Given the description of an element on the screen output the (x, y) to click on. 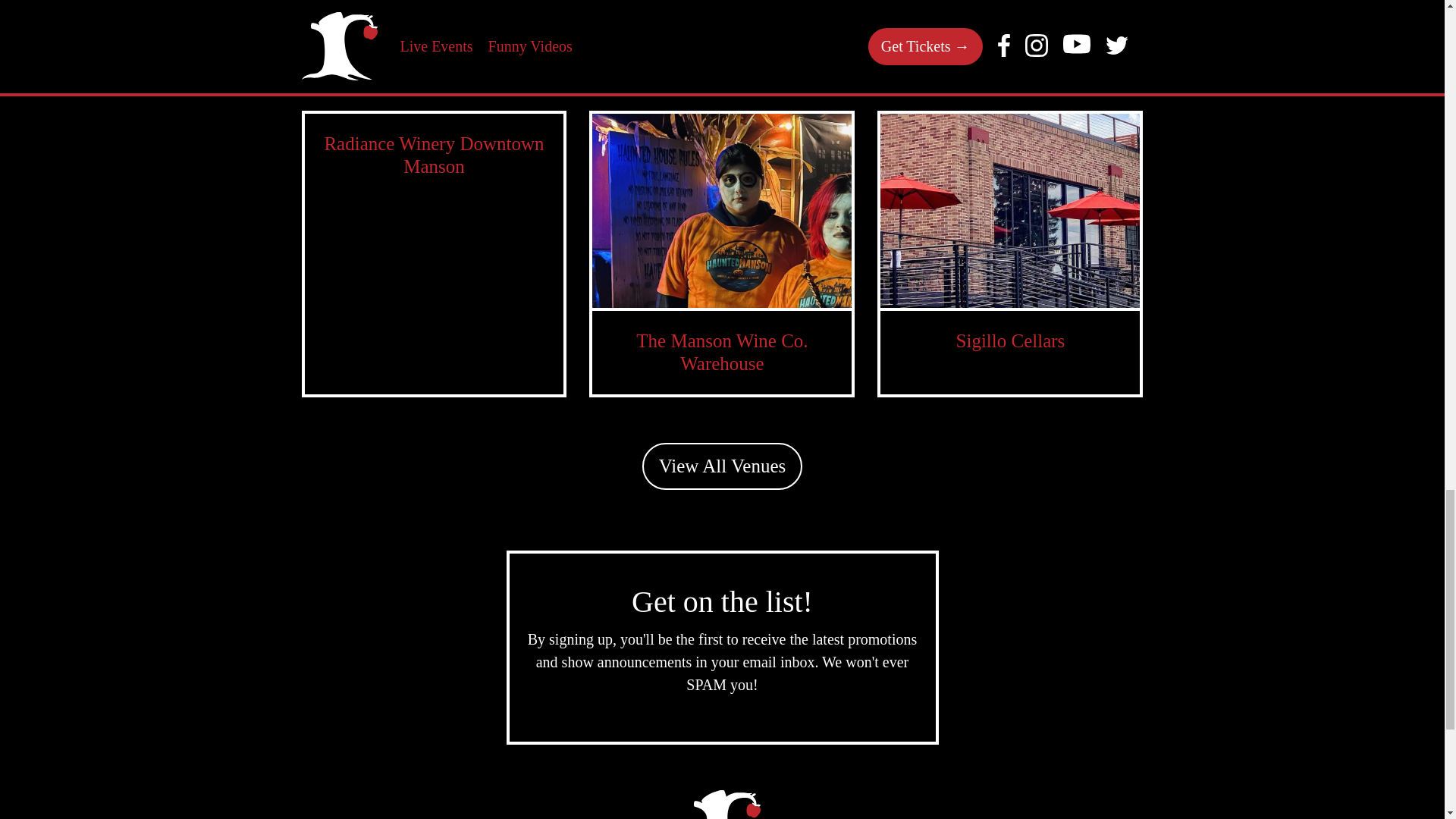
View All Venues (722, 466)
Radiance Winery Downtown Manson (433, 154)
rotten apple (721, 804)
The Manson Wine Co. Warehouse (722, 351)
Sigillo Cellars (1010, 340)
Rotten Apple (722, 804)
